Given the description of an element on the screen output the (x, y) to click on. 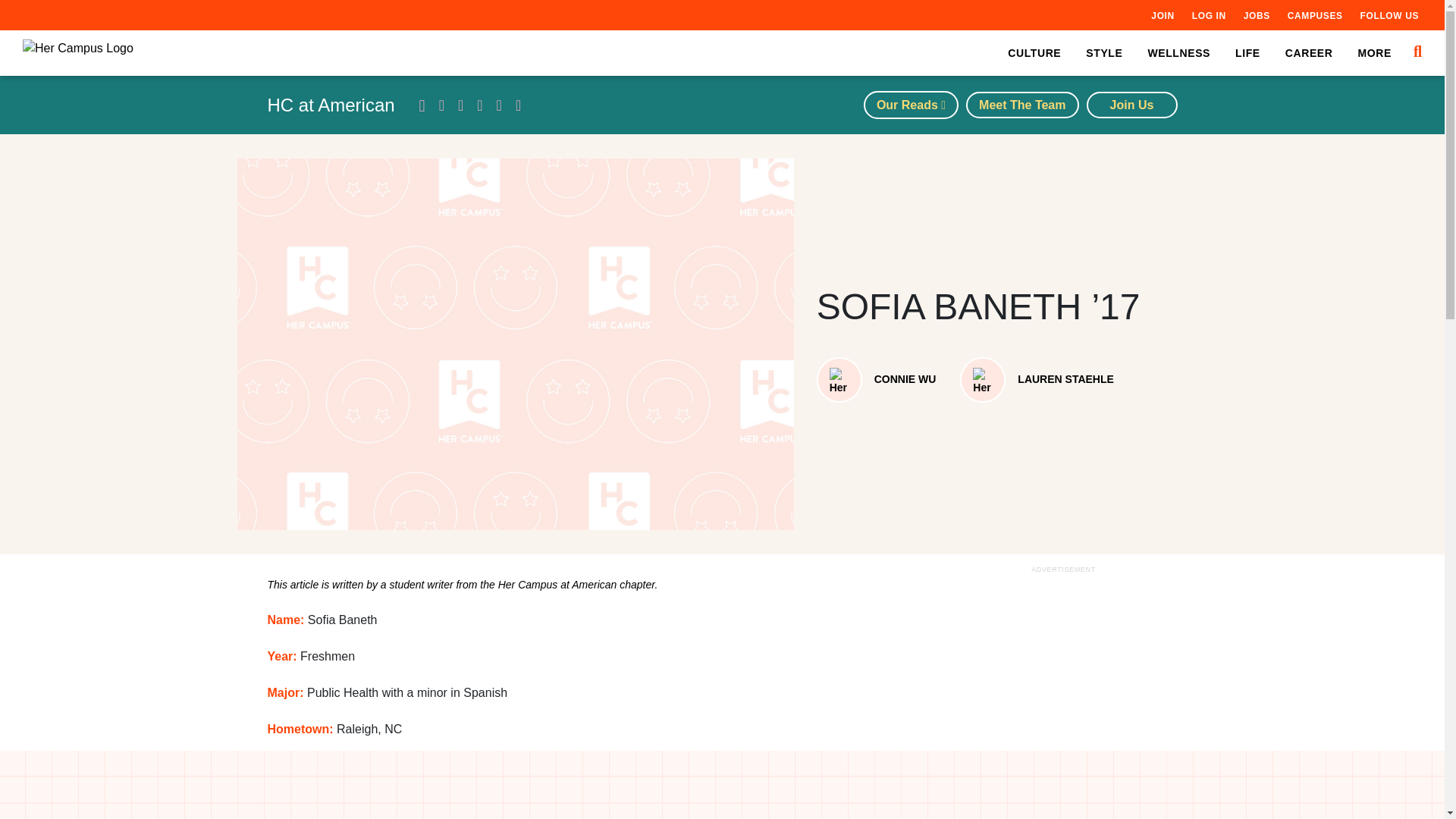
LOG IN (1208, 15)
JOBS (1256, 15)
JOIN (1162, 15)
CAMPUSES (1314, 15)
